Given the description of an element on the screen output the (x, y) to click on. 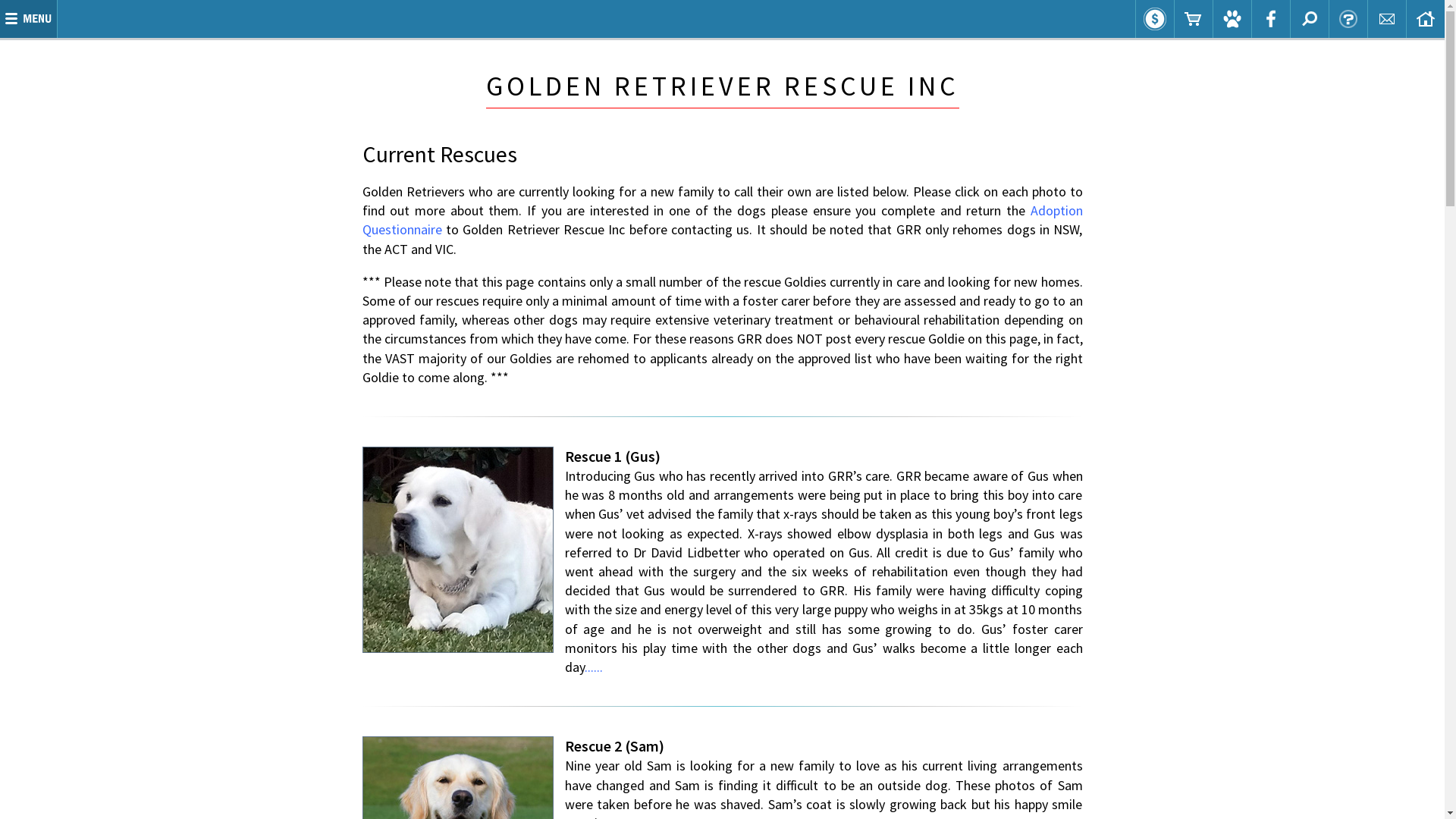
GOLDEN RETRIEVER RESCUE INC Element type: text (721, 86)
...... Element type: text (592, 666)
Adoption Questionnaire Element type: text (722, 219)
